Given the description of an element on the screen output the (x, y) to click on. 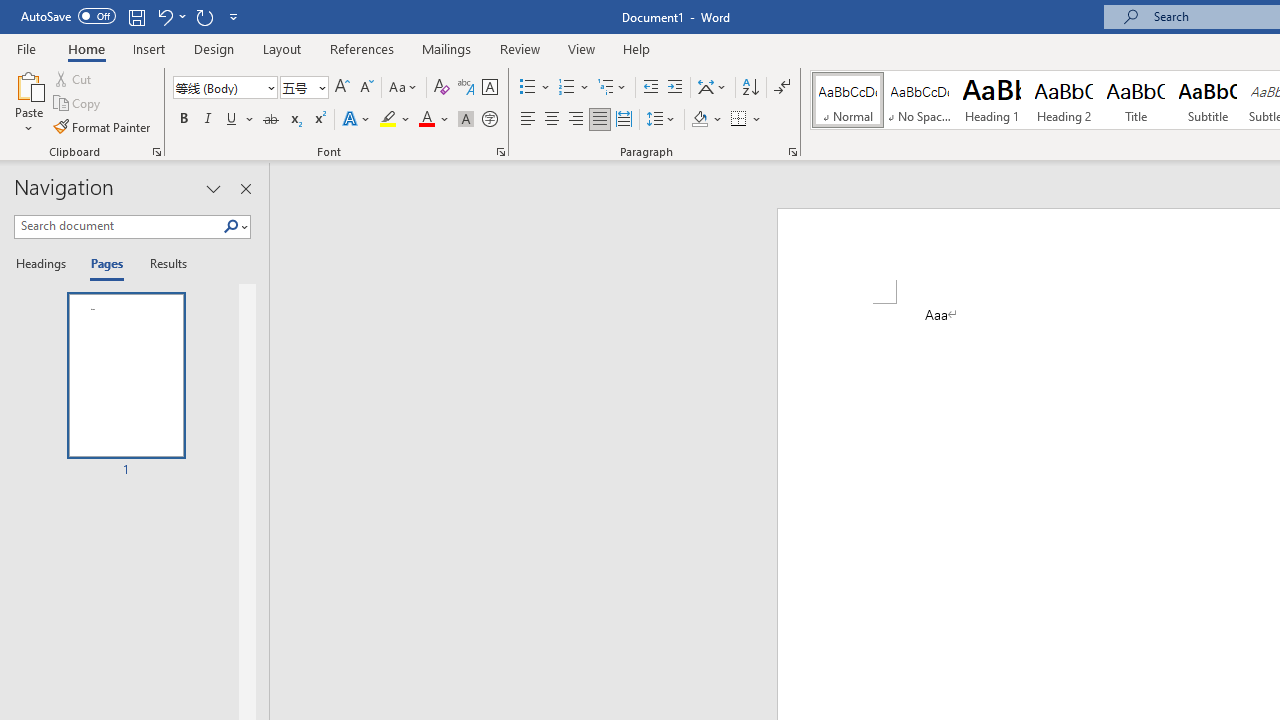
Heading 2 (1063, 100)
Design (214, 48)
Shading (706, 119)
More Options (757, 119)
Phonetic Guide... (465, 87)
References (362, 48)
Character Shading (465, 119)
Distributed (623, 119)
Font (224, 87)
Pages (105, 264)
Text Highlight Color (395, 119)
Search document (118, 226)
System (10, 11)
